Given the description of an element on the screen output the (x, y) to click on. 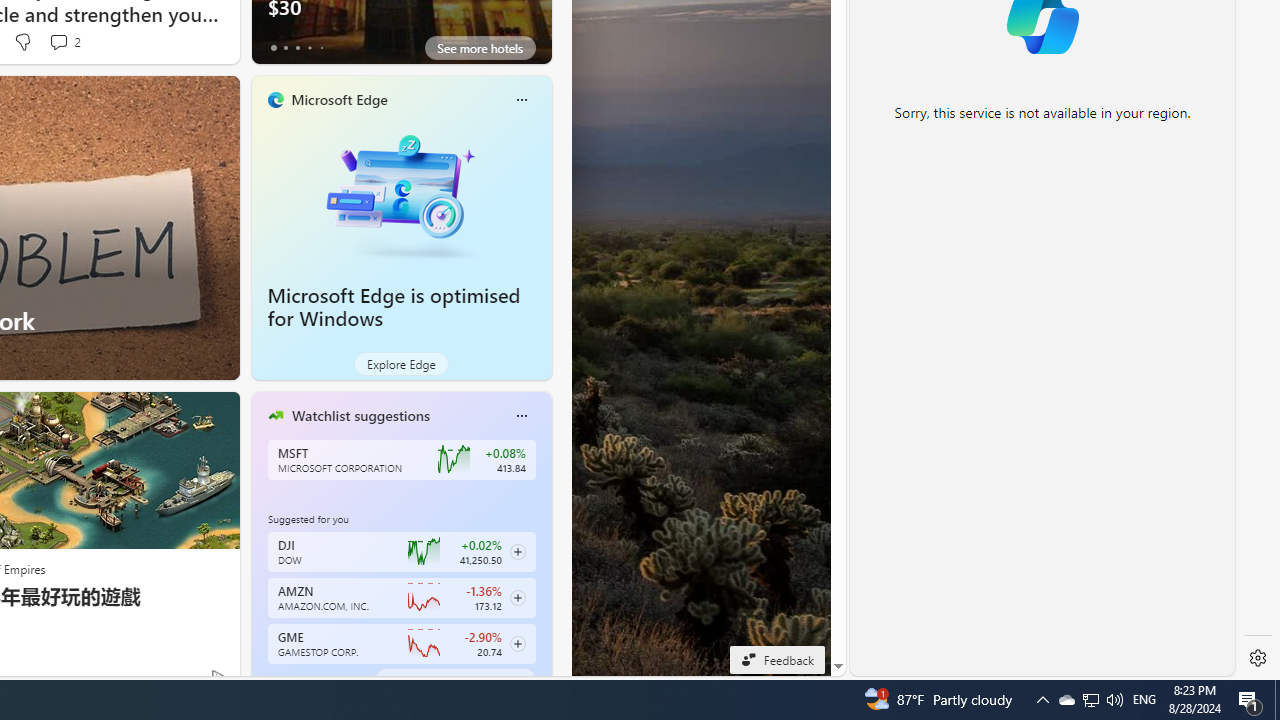
Microsoft Edge (338, 99)
Class: follow-button  m (517, 643)
Explore Edge (401, 363)
Class: icon-img (521, 416)
tab-3 (309, 679)
Microsoft Edge is optimised for Windows (401, 193)
See more hotels (479, 47)
Ad Choice (217, 675)
tab-0 (273, 679)
tab-4 (320, 679)
Feedback (777, 659)
